Given the description of an element on the screen output the (x, y) to click on. 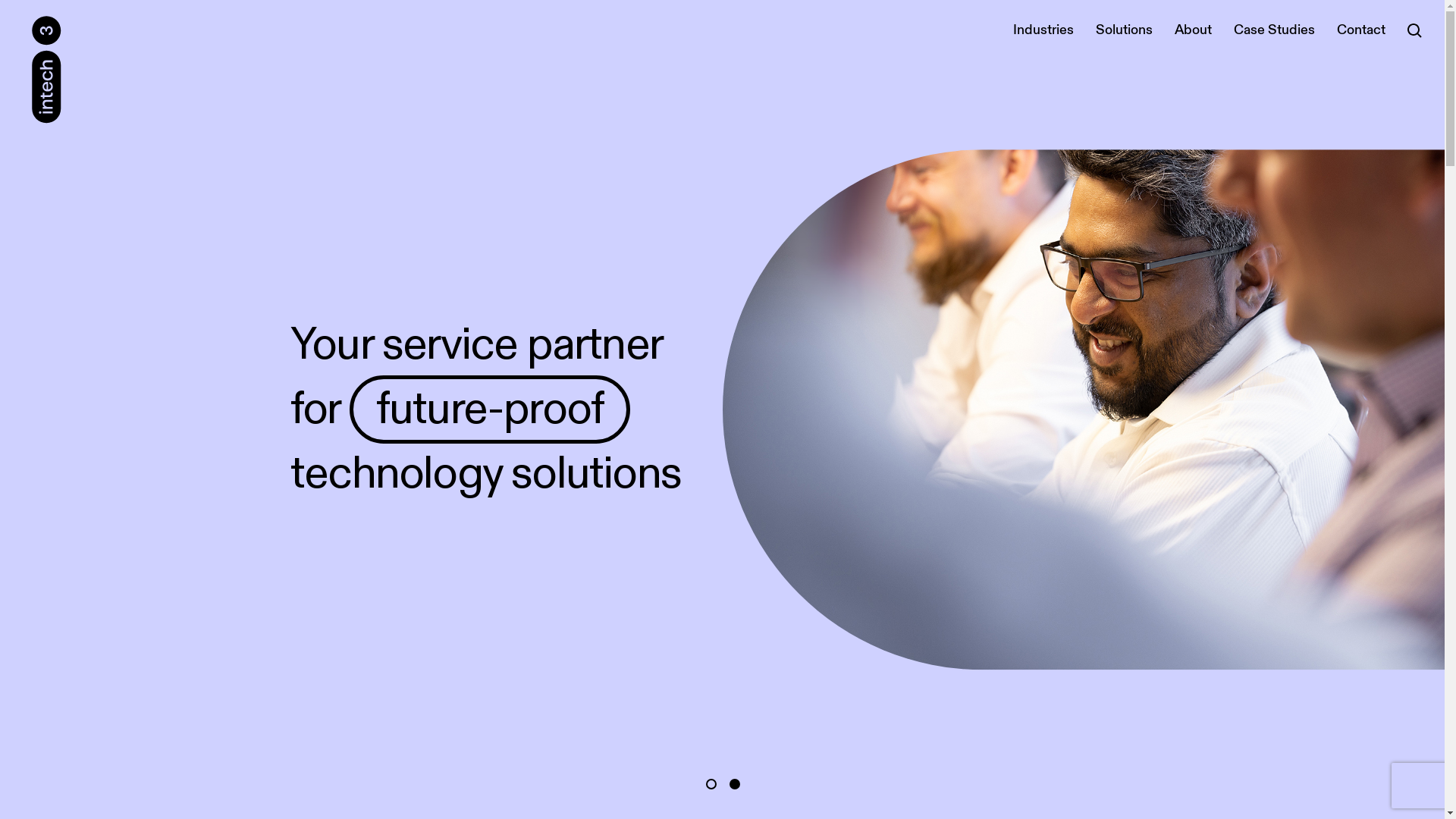
Solutions Element type: text (1124, 29)
1 Element type: text (711, 783)
About Element type: text (1193, 29)
Case Studies Element type: text (1274, 29)
2 Element type: text (734, 783)
Contact Element type: text (1360, 29)
Industries Element type: text (1043, 29)
